Given the description of an element on the screen output the (x, y) to click on. 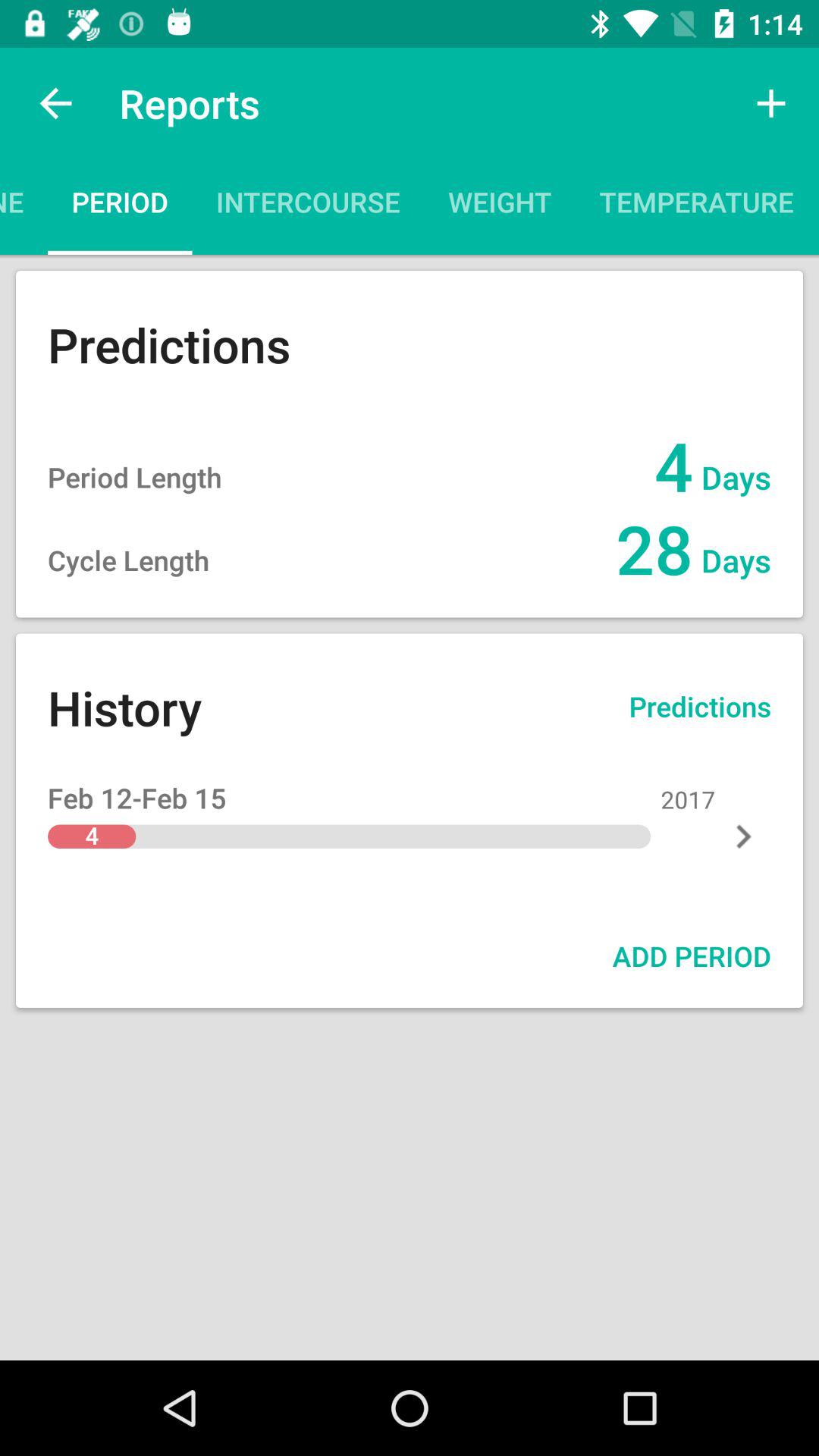
click icon next to intercourse item (499, 206)
